Given the description of an element on the screen output the (x, y) to click on. 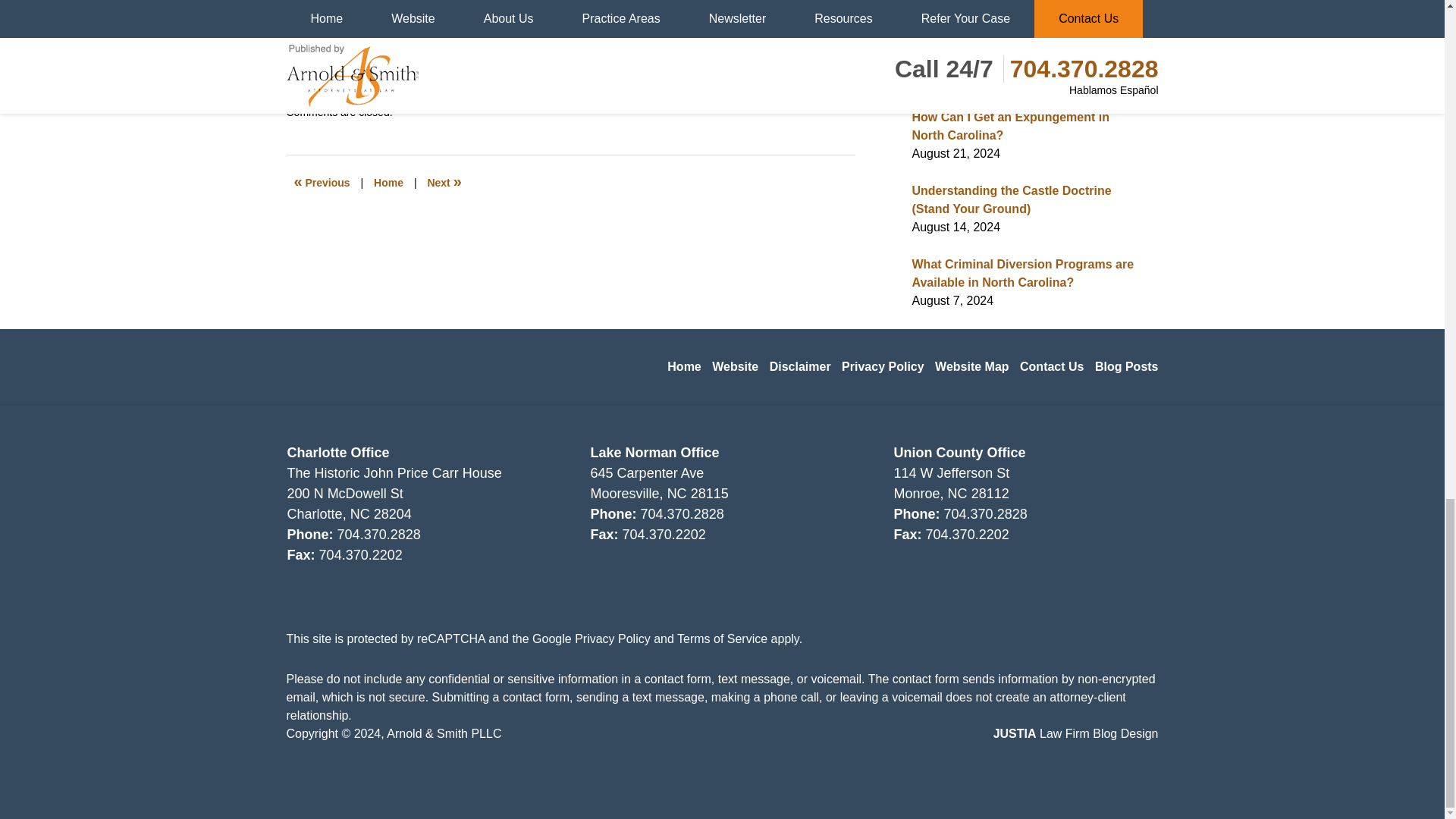
Stolen Laptop Photographs NC Thief and Leads to Arrest (471, 21)
Supreme Court to Hear Case About Warrantless Blood Testing (488, 62)
Home (388, 182)
Civil Rights (365, 96)
View all posts in Civil Rights (365, 96)
CMPD Announces Major Surveillance Expansion (443, 182)
Armed Robbery Gets North Carolina Man 176 Years Behind Bars (322, 182)
